Given the description of an element on the screen output the (x, y) to click on. 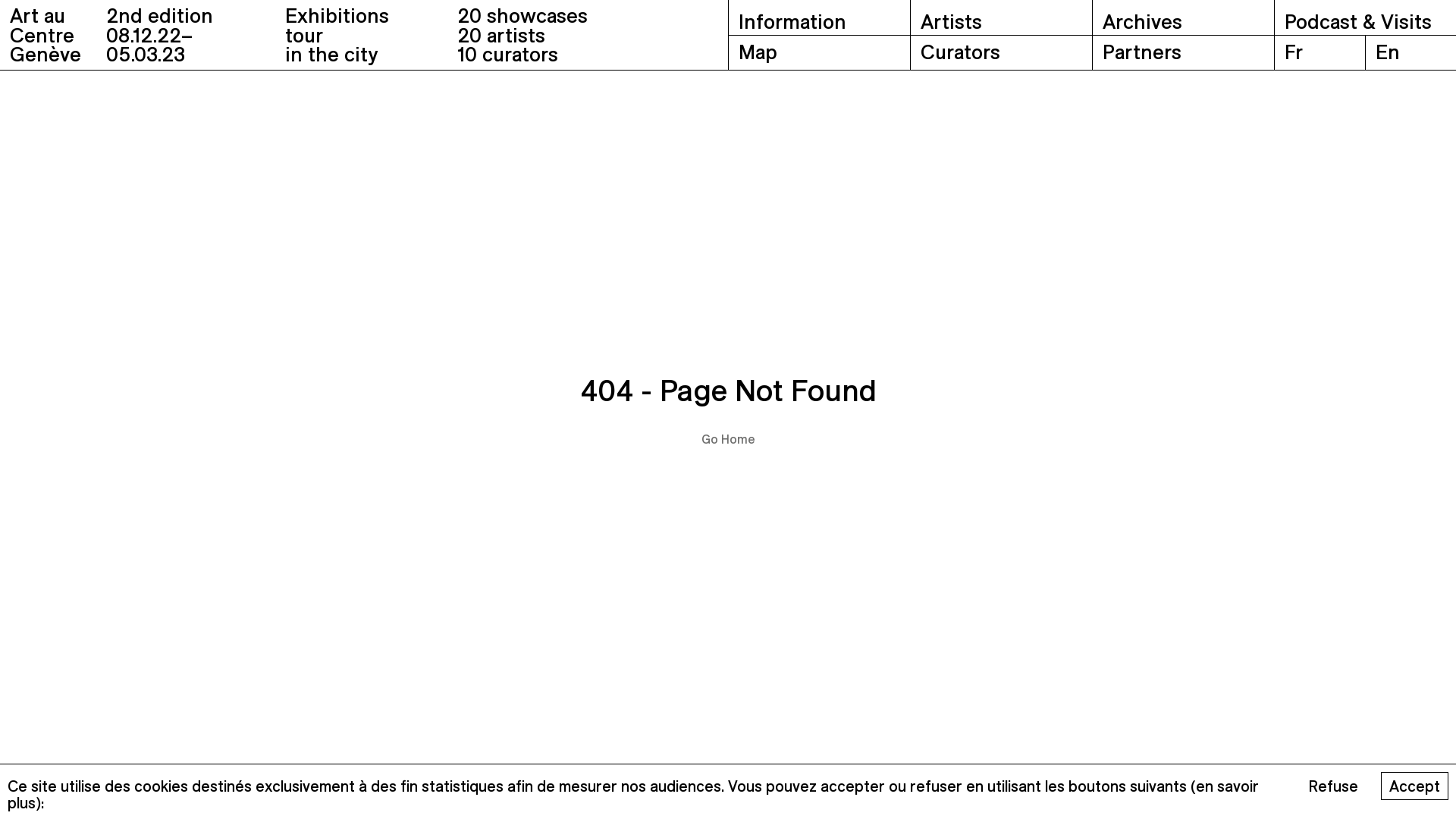
Go Home Element type: text (727, 439)
Curators Element type: text (1001, 52)
Archives Element type: text (1183, 17)
Partners Element type: text (1183, 52)
Fr Element type: text (1319, 52)
Artists Element type: text (1001, 17)
Information Element type: text (819, 17)
Map Element type: text (819, 52)
